Given the description of an element on the screen output the (x, y) to click on. 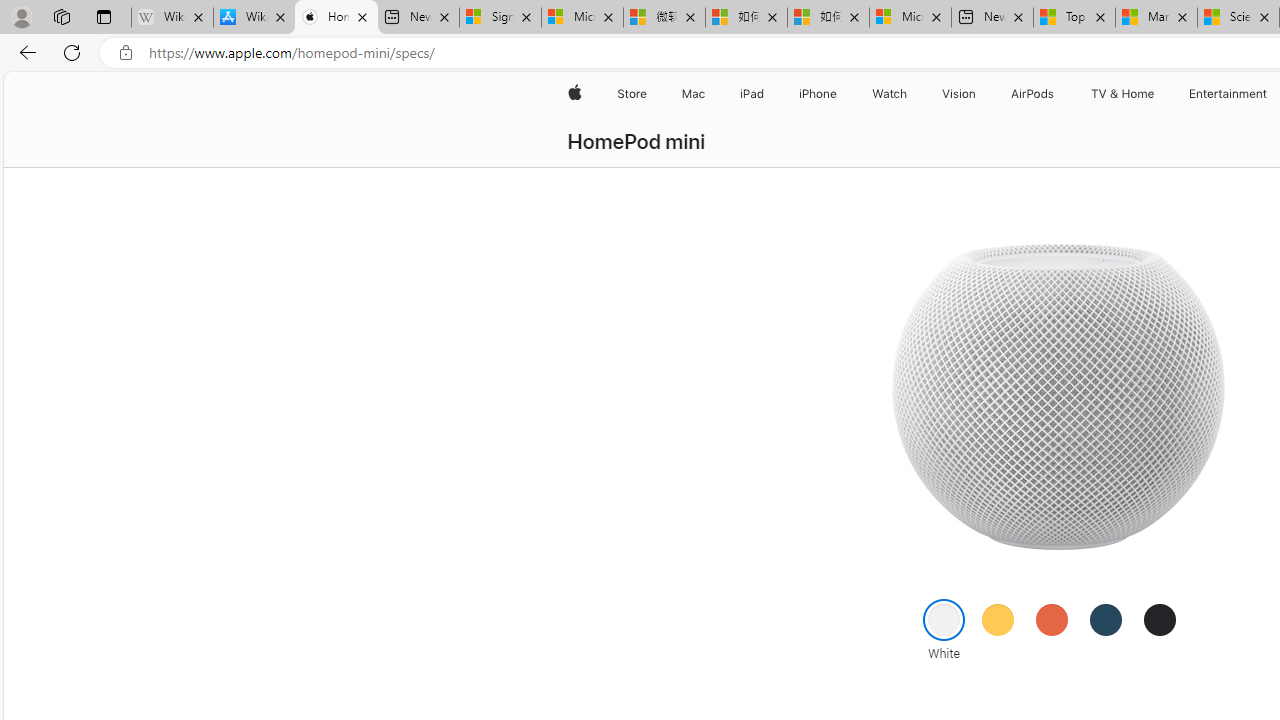
Apple (574, 93)
Mac (692, 93)
Vision (959, 93)
Store (631, 93)
Midnight (1160, 619)
Orange (1051, 619)
iPad menu (767, 93)
